Given the description of an element on the screen output the (x, y) to click on. 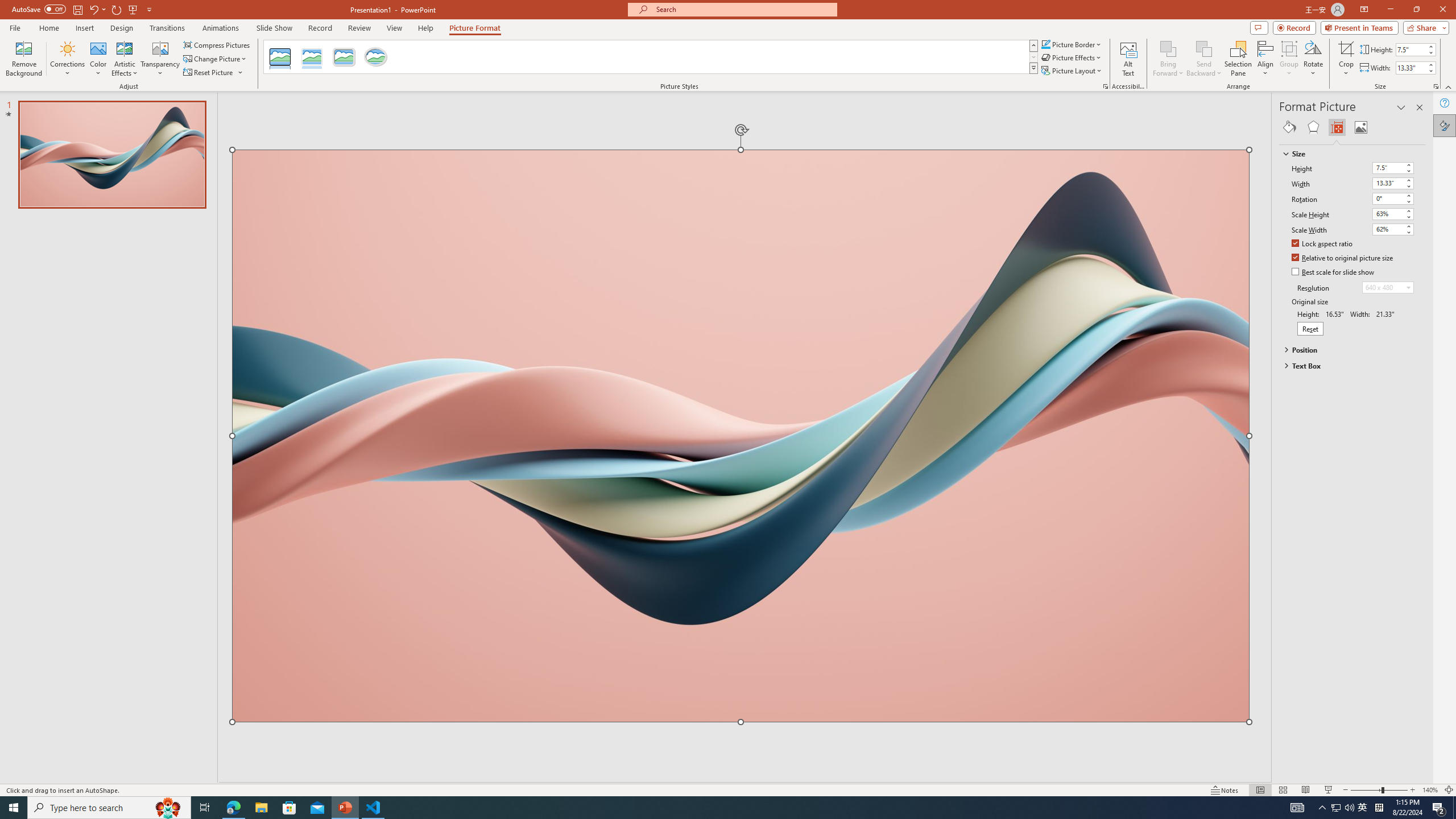
Reset Picture (214, 72)
Reflected Bevel, White (312, 56)
Scale Height (1388, 213)
Lock aspect ratio (1322, 244)
Picture... (1104, 85)
Format Picture (1444, 125)
Rotate (1312, 58)
